Given the description of an element on the screen output the (x, y) to click on. 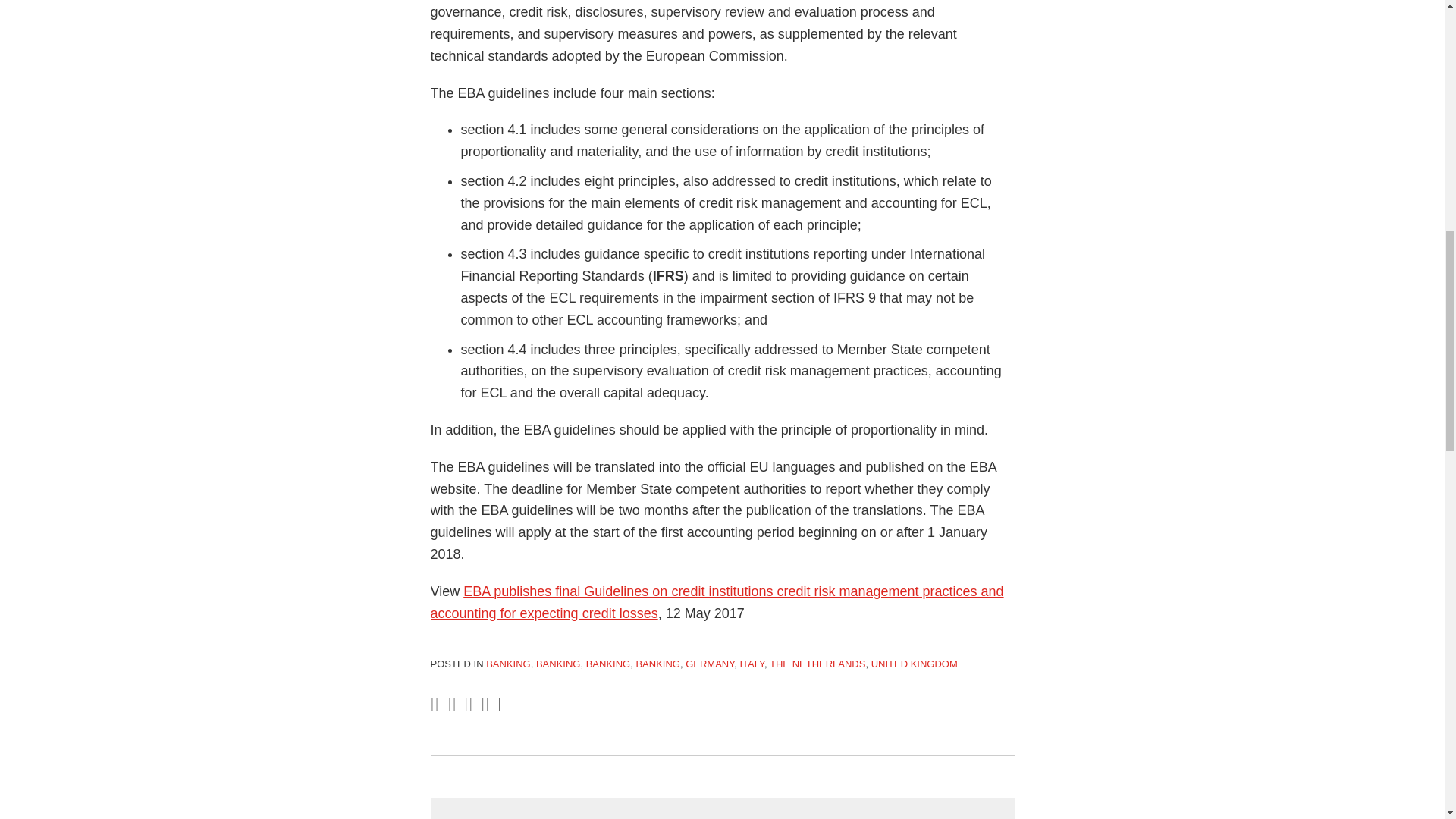
UNITED KINGDOM (914, 663)
BANKING (557, 663)
BANKING (656, 663)
ITALY (751, 663)
BANKING (508, 663)
THE NETHERLANDS (817, 663)
BANKING (608, 663)
GERMANY (709, 663)
